Given the description of an element on the screen output the (x, y) to click on. 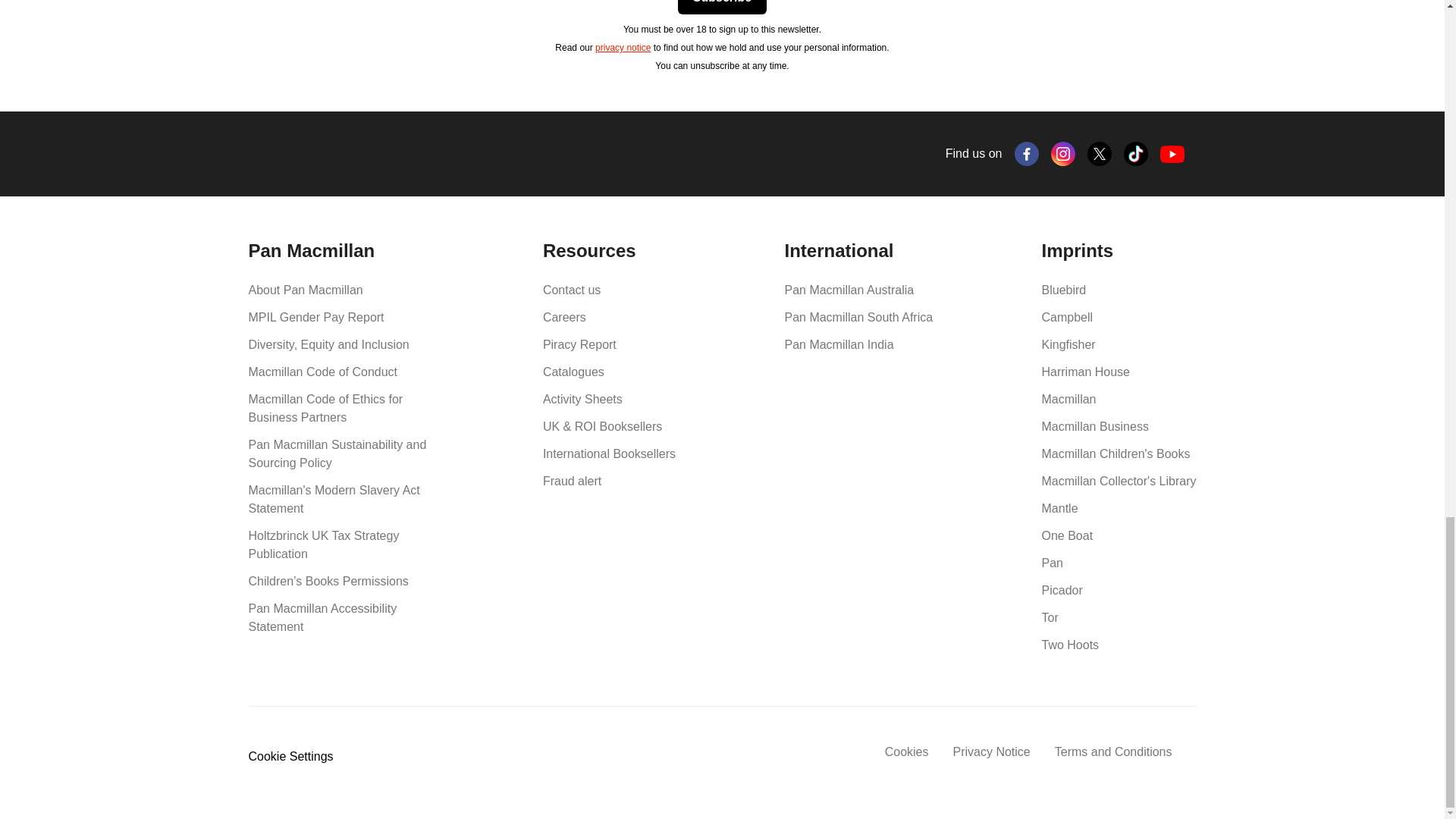
Subscribe (722, 7)
Facebook (1026, 153)
Pan Macmillan Privacy Notice (622, 47)
